Given the description of an element on the screen output the (x, y) to click on. 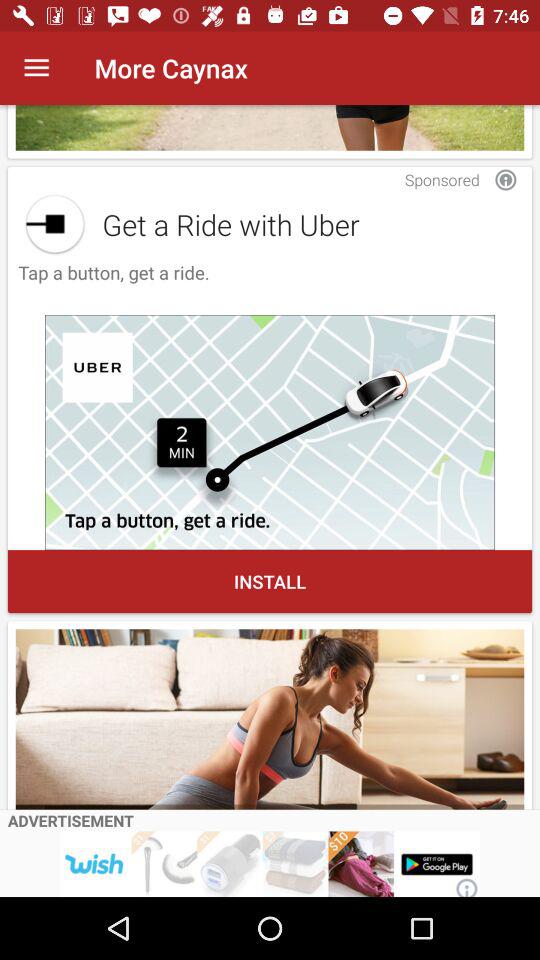
share the article (54, 224)
